Given the description of an element on the screen output the (x, y) to click on. 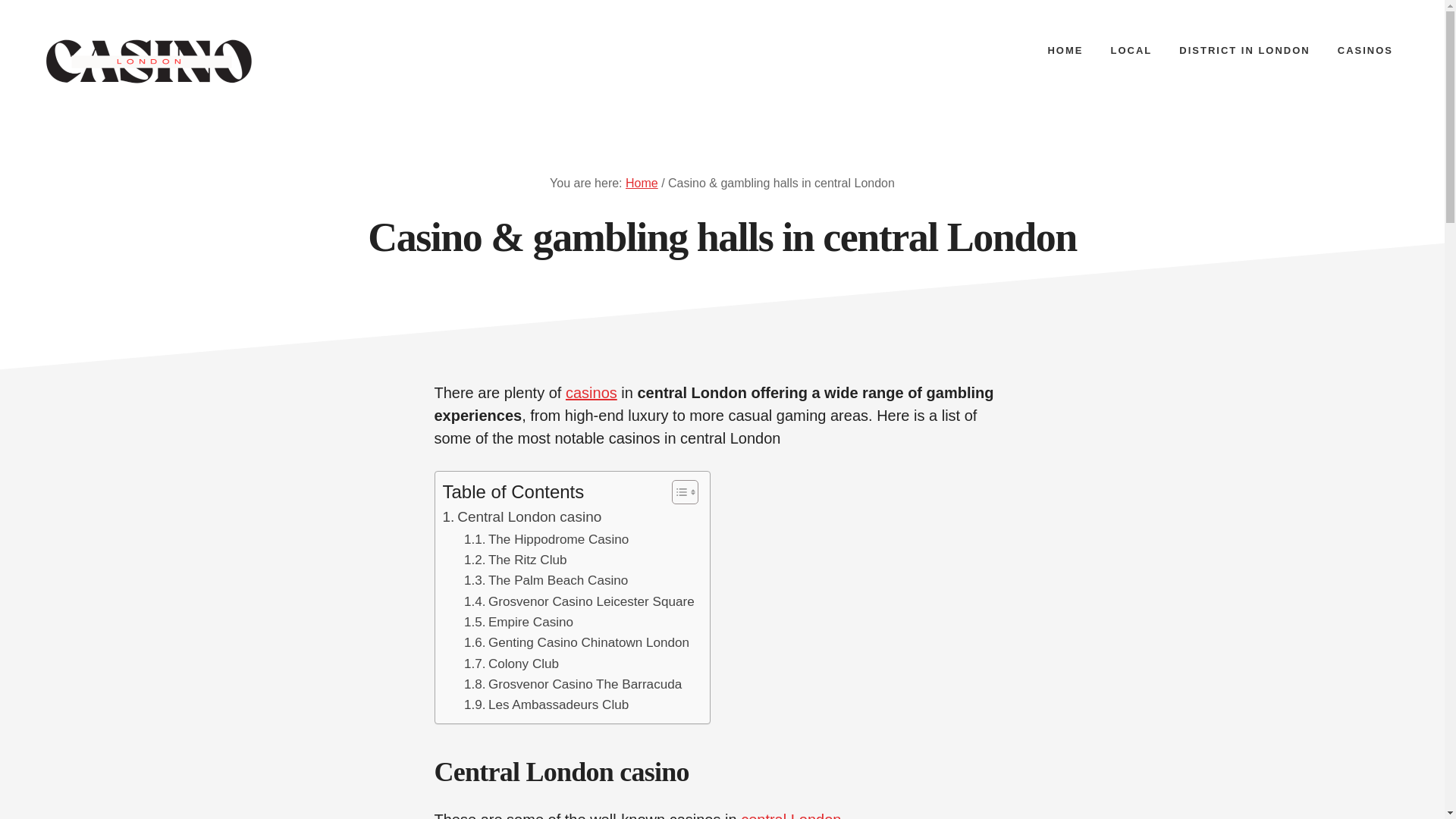
Home (642, 182)
DISTRICT IN LONDON (1244, 50)
HOME (1064, 50)
Grosvenor Casino The Barracuda (572, 684)
CASINO.LONDON (150, 60)
LOCAL (1131, 50)
Grosvenor Casino Leicester Square (579, 601)
The Ritz Club (515, 559)
The Palm Beach Casino (545, 580)
Colony Club (511, 663)
